Given the description of an element on the screen output the (x, y) to click on. 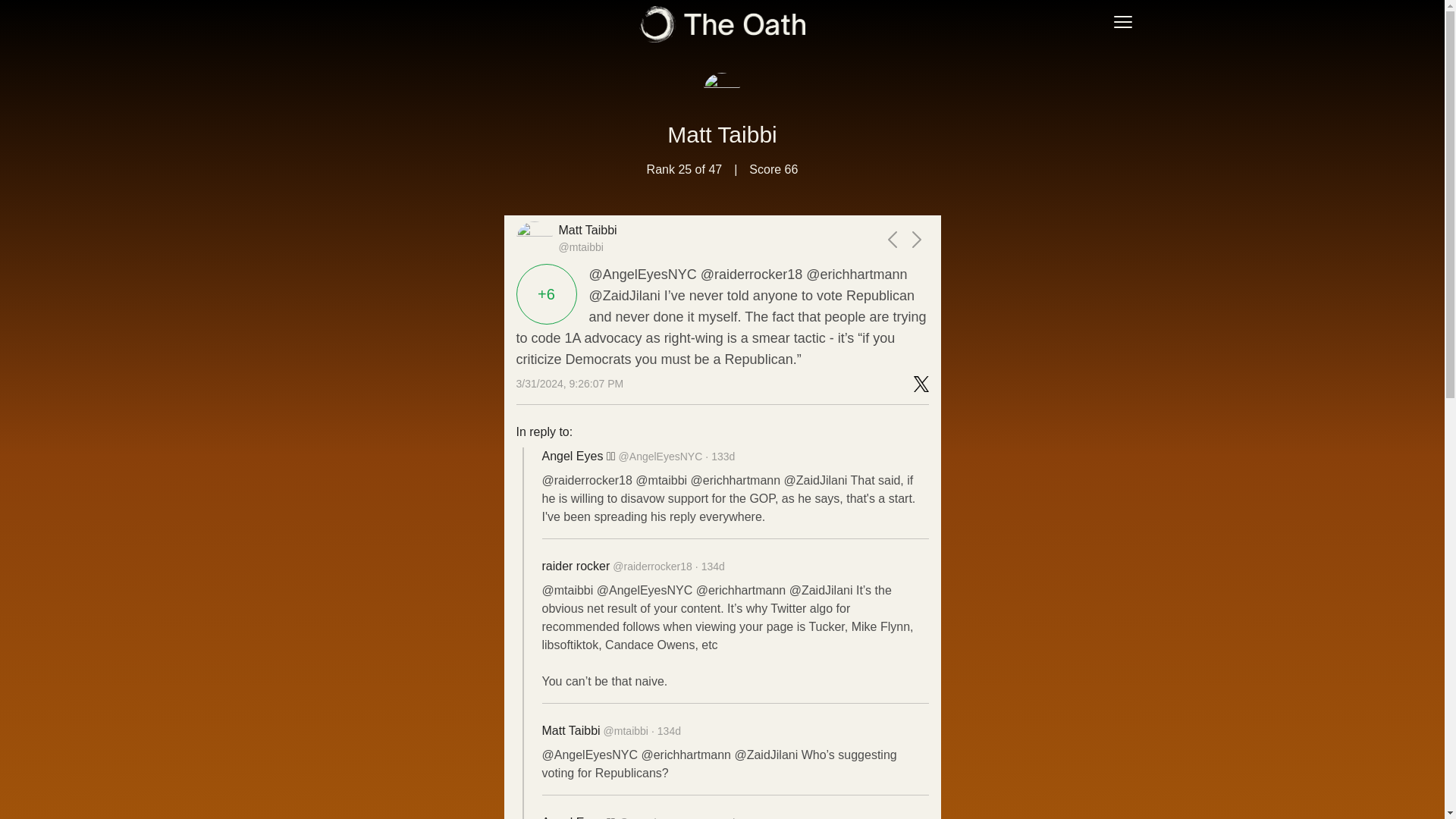
Matt Taibbi (721, 134)
Matt Taibbi (586, 230)
Toggle main menu (1121, 21)
The Oath (722, 23)
